Given the description of an element on the screen output the (x, y) to click on. 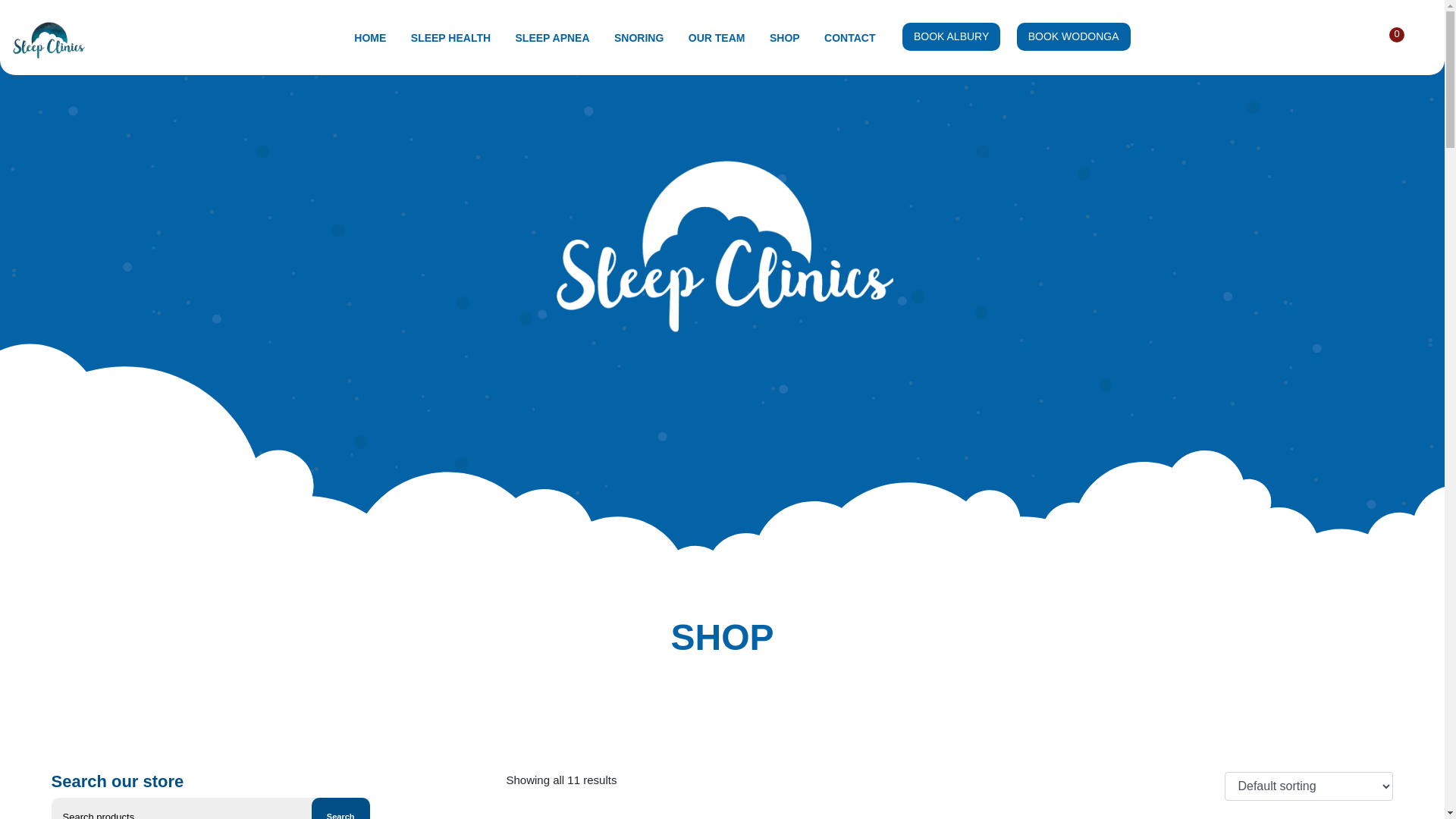
BOOK WODONGA Element type: text (1073, 36)
BOOK ALBURY Element type: text (951, 36)
